Given the description of an element on the screen output the (x, y) to click on. 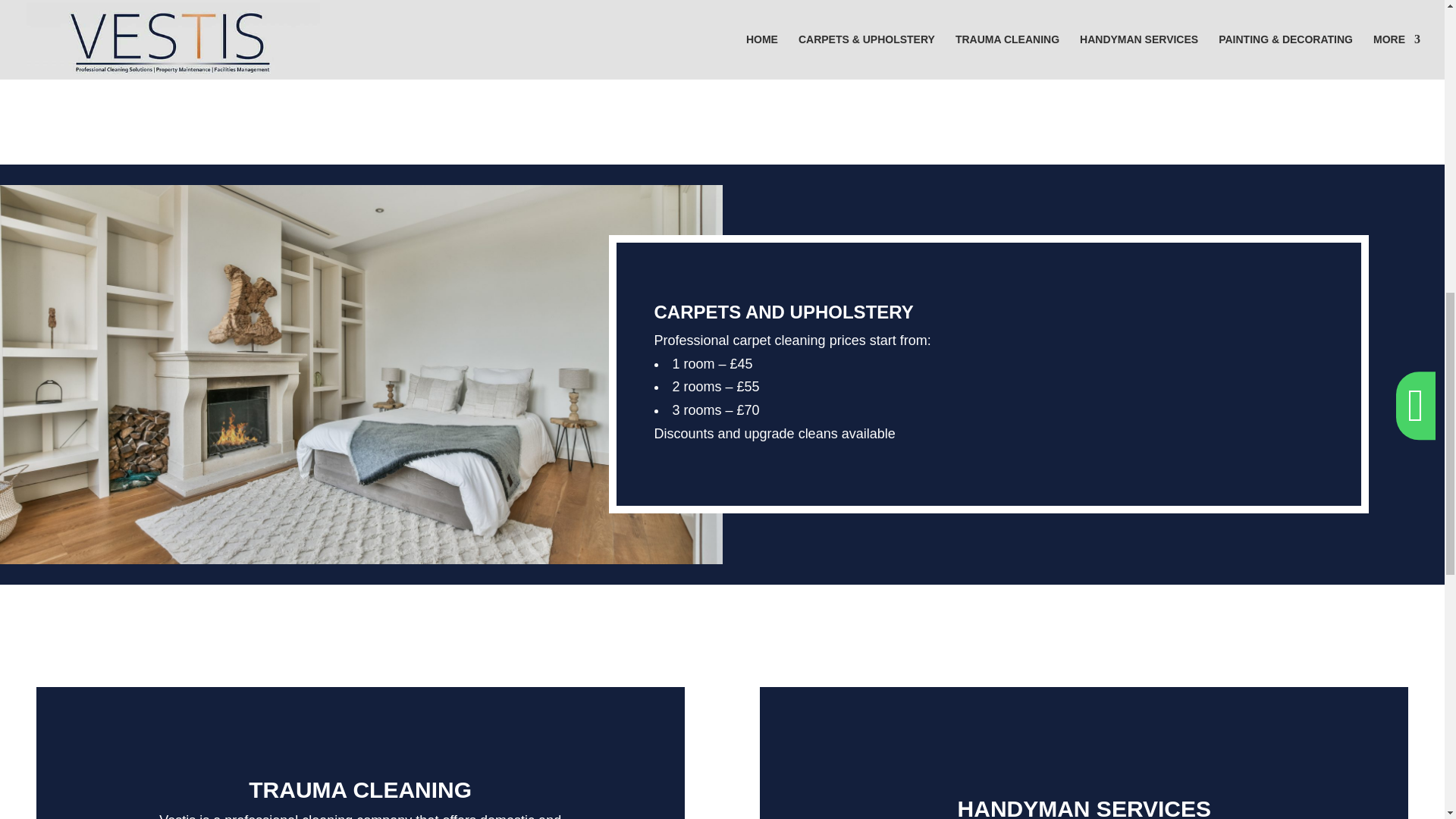
HANDYMAN SERVICES (1084, 807)
TRAUMA CLEANING (359, 789)
